Given the description of an element on the screen output the (x, y) to click on. 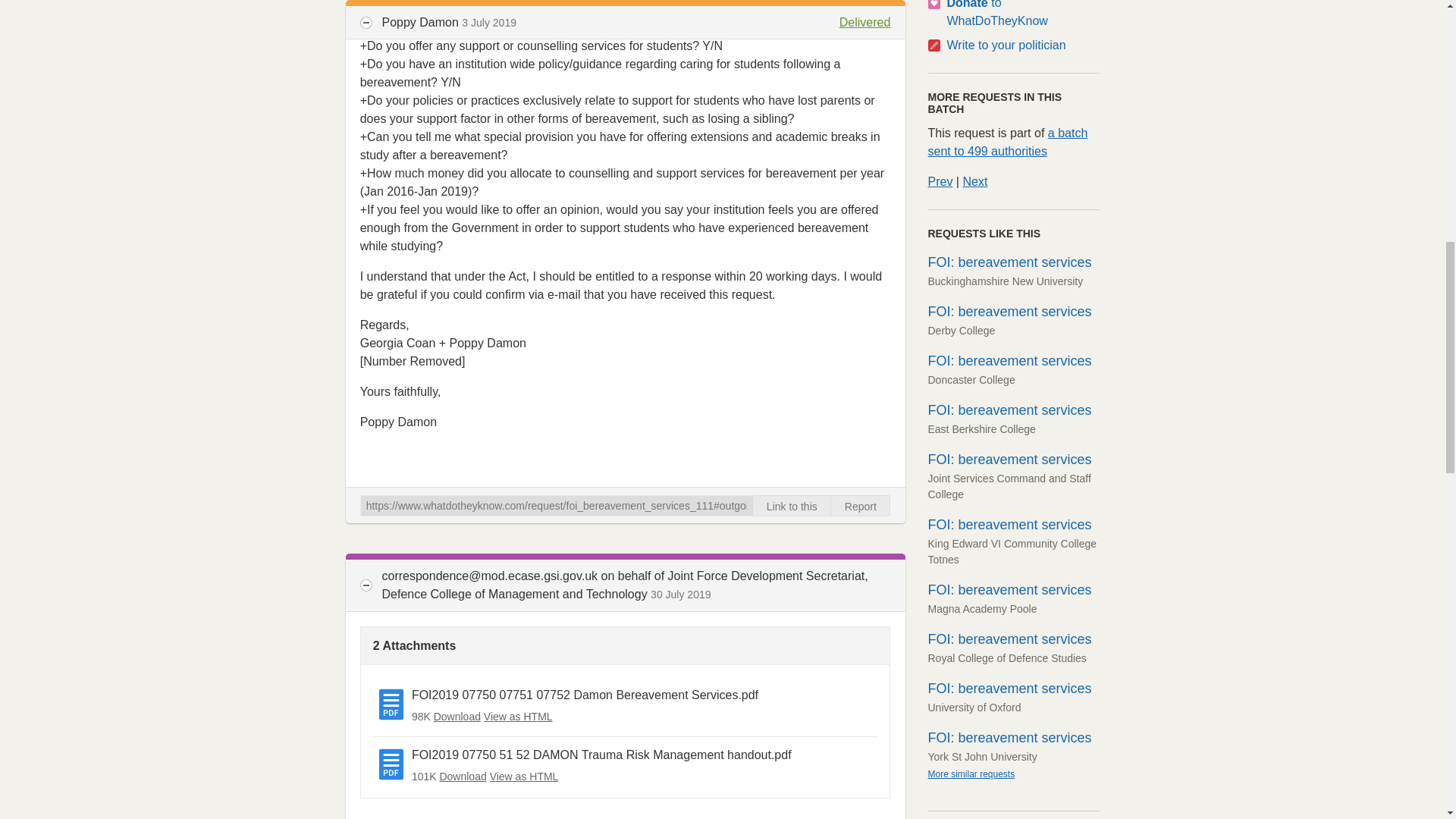
30 July 2019 (680, 594)
Report (860, 505)
View as HTML (518, 716)
Link to this (791, 505)
Download (456, 716)
